Given the description of an element on the screen output the (x, y) to click on. 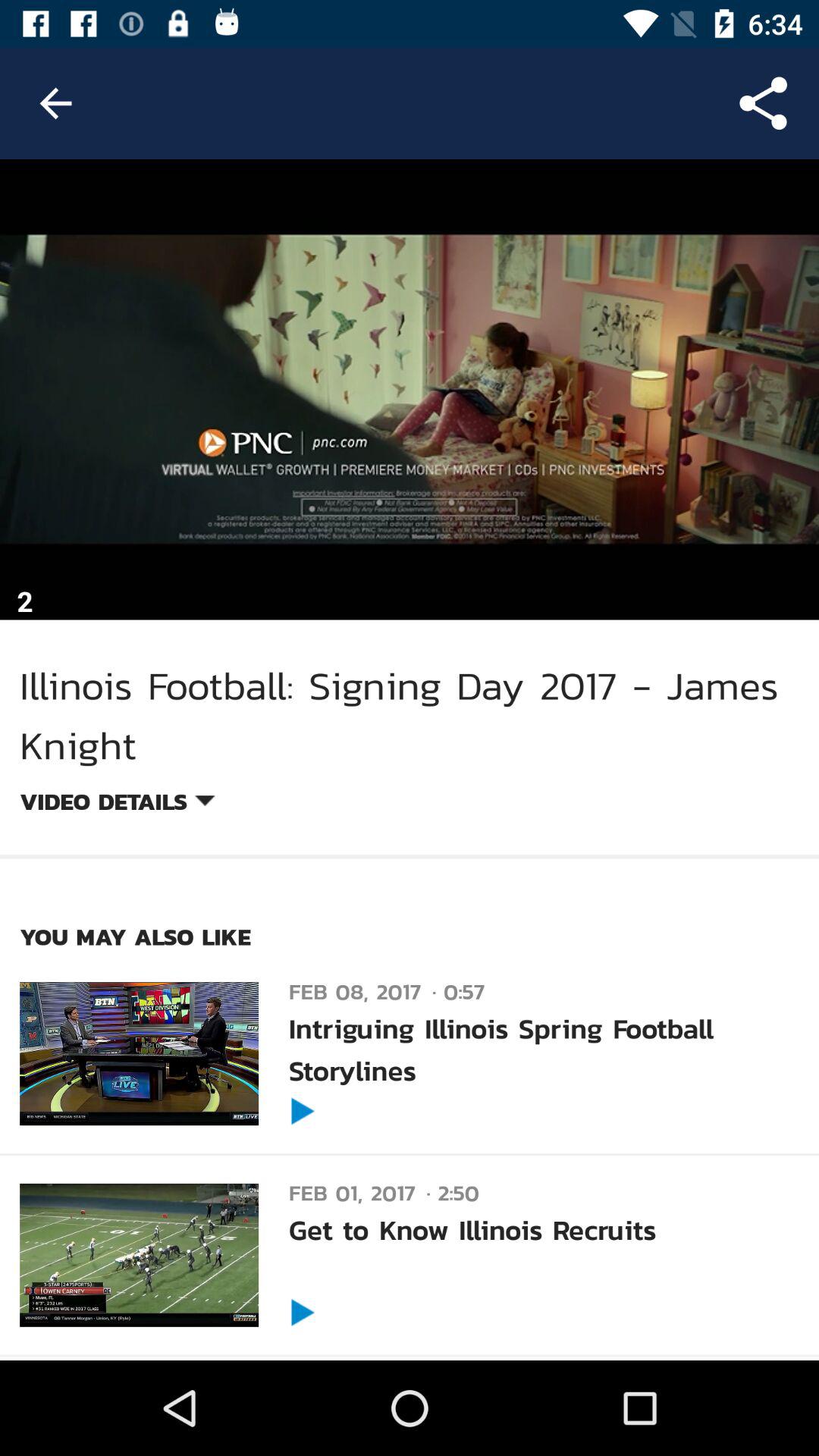
scroll to the video details icon (116, 803)
